Given the description of an element on the screen output the (x, y) to click on. 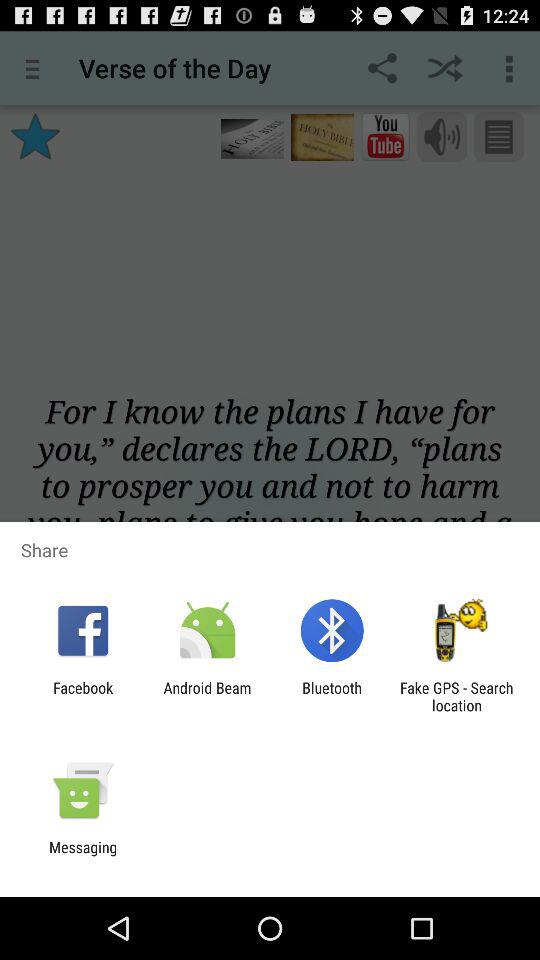
turn on the android beam app (207, 696)
